Given the description of an element on the screen output the (x, y) to click on. 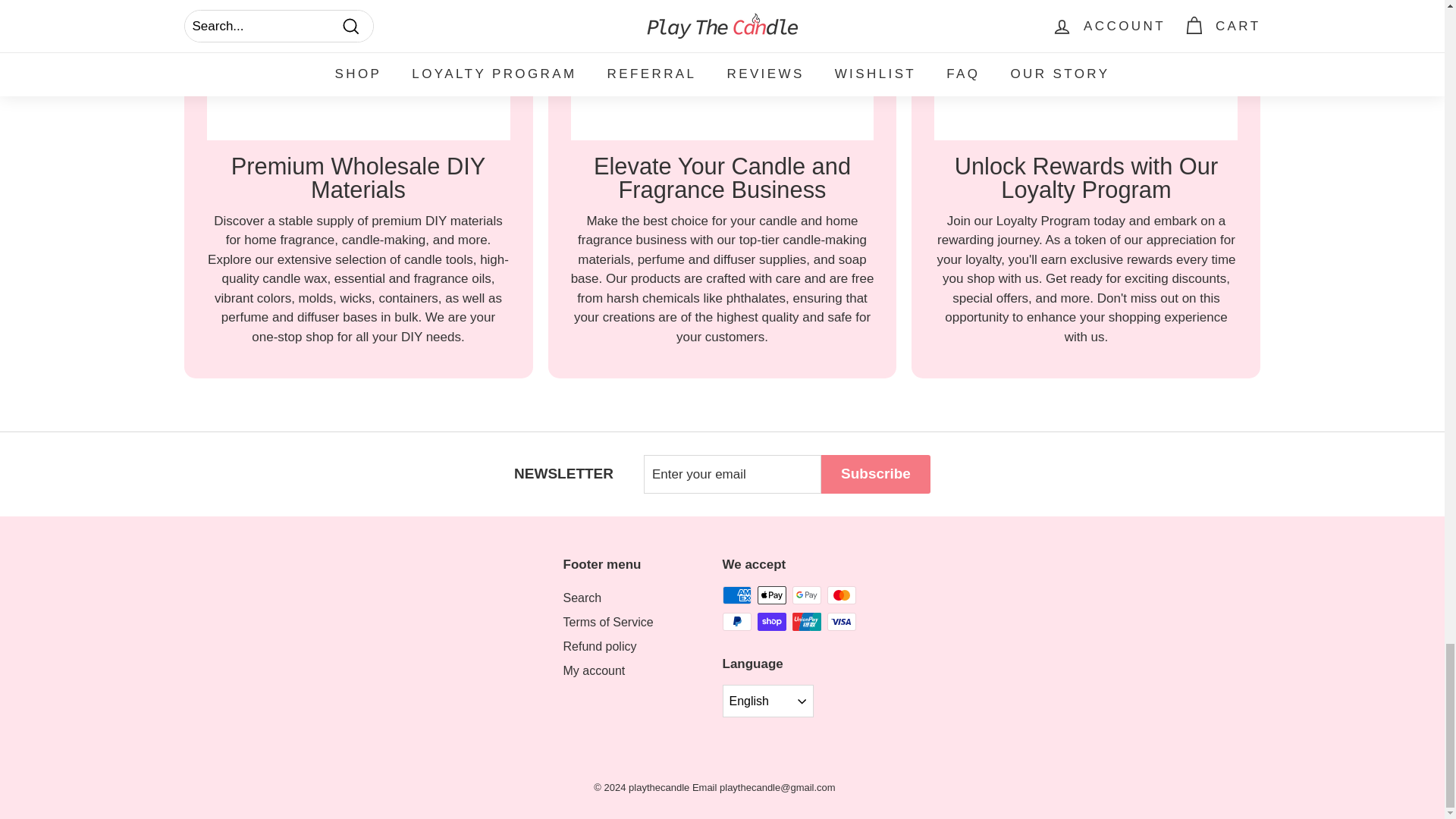
American Express (736, 595)
Mastercard (841, 595)
PayPal (736, 621)
Union Pay (806, 621)
Visa (841, 621)
Apple Pay (771, 595)
Google Pay (806, 595)
Shop Pay (771, 621)
